Given the description of an element on the screen output the (x, y) to click on. 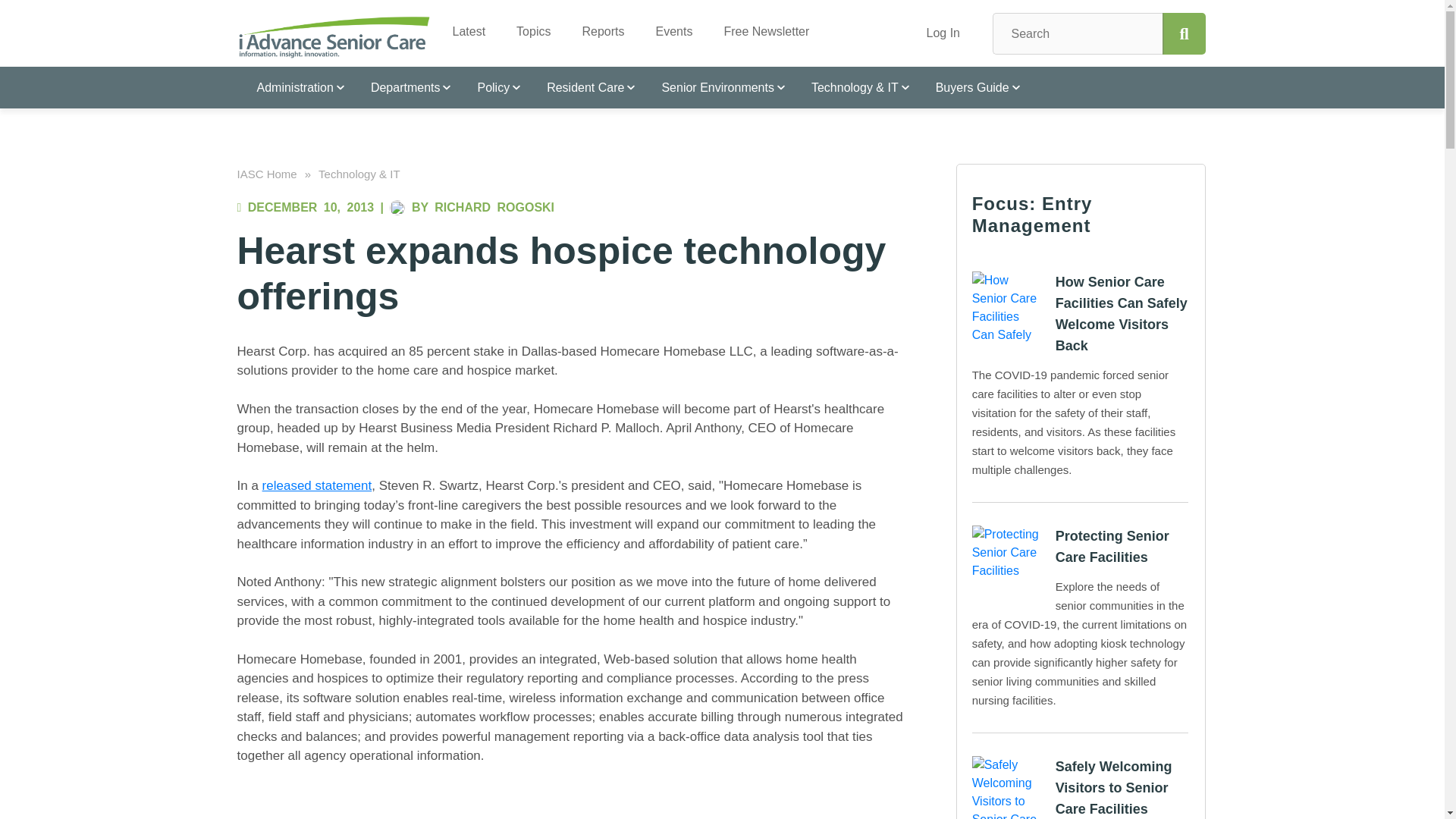
Topics (527, 26)
Latest (462, 26)
I Advance Senior Care (332, 36)
Resident Care (584, 87)
Policy (492, 87)
Administration (292, 87)
Free Newsletter (759, 26)
Reports (596, 26)
Events (667, 26)
Departments (404, 87)
